Given the description of an element on the screen output the (x, y) to click on. 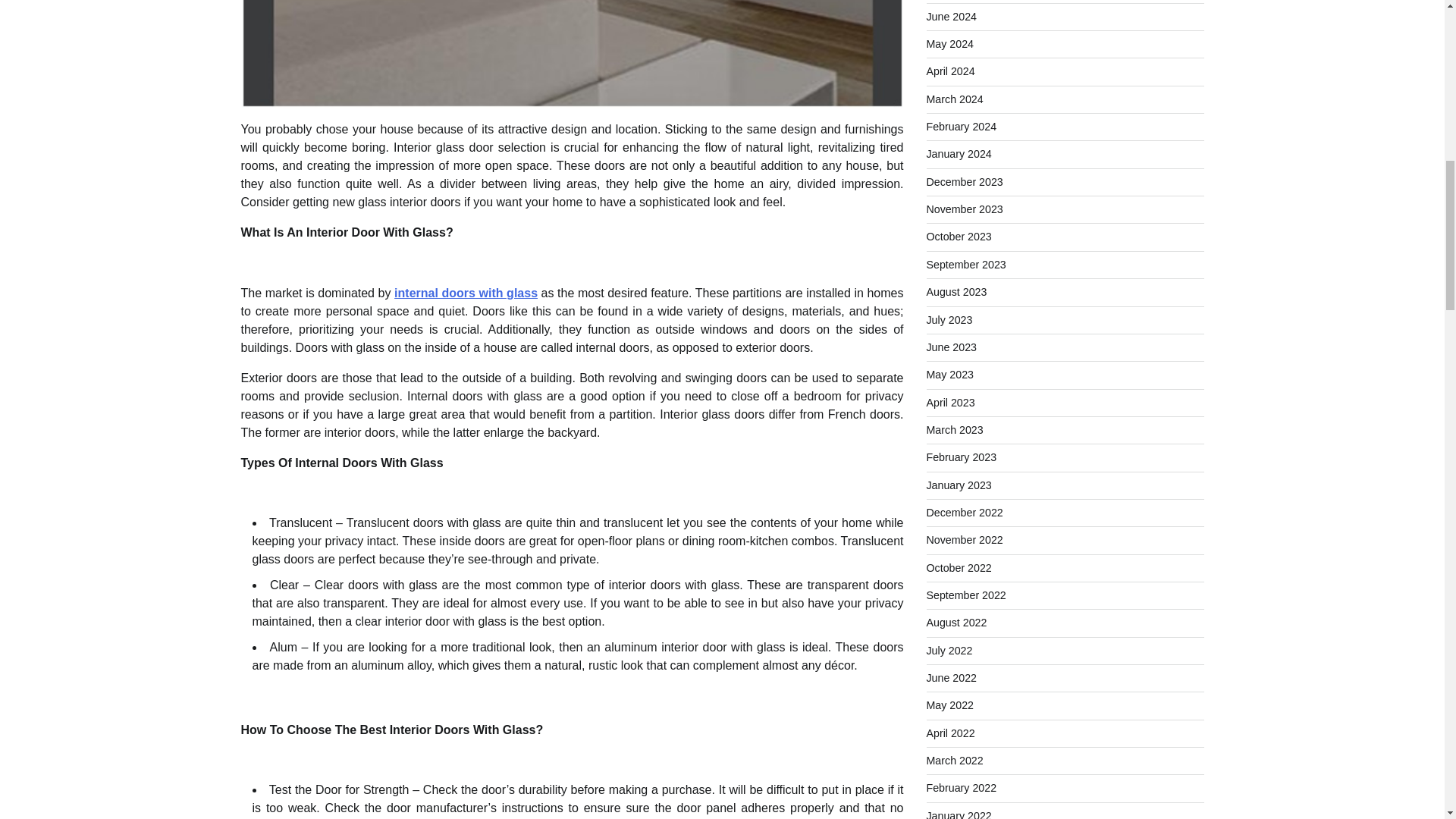
April 2024 (950, 70)
May 2024 (950, 43)
January 2024 (958, 153)
June 2024 (951, 16)
internal doors with glass (465, 292)
February 2024 (961, 126)
March 2024 (955, 99)
December 2023 (964, 182)
